Given the description of an element on the screen output the (x, y) to click on. 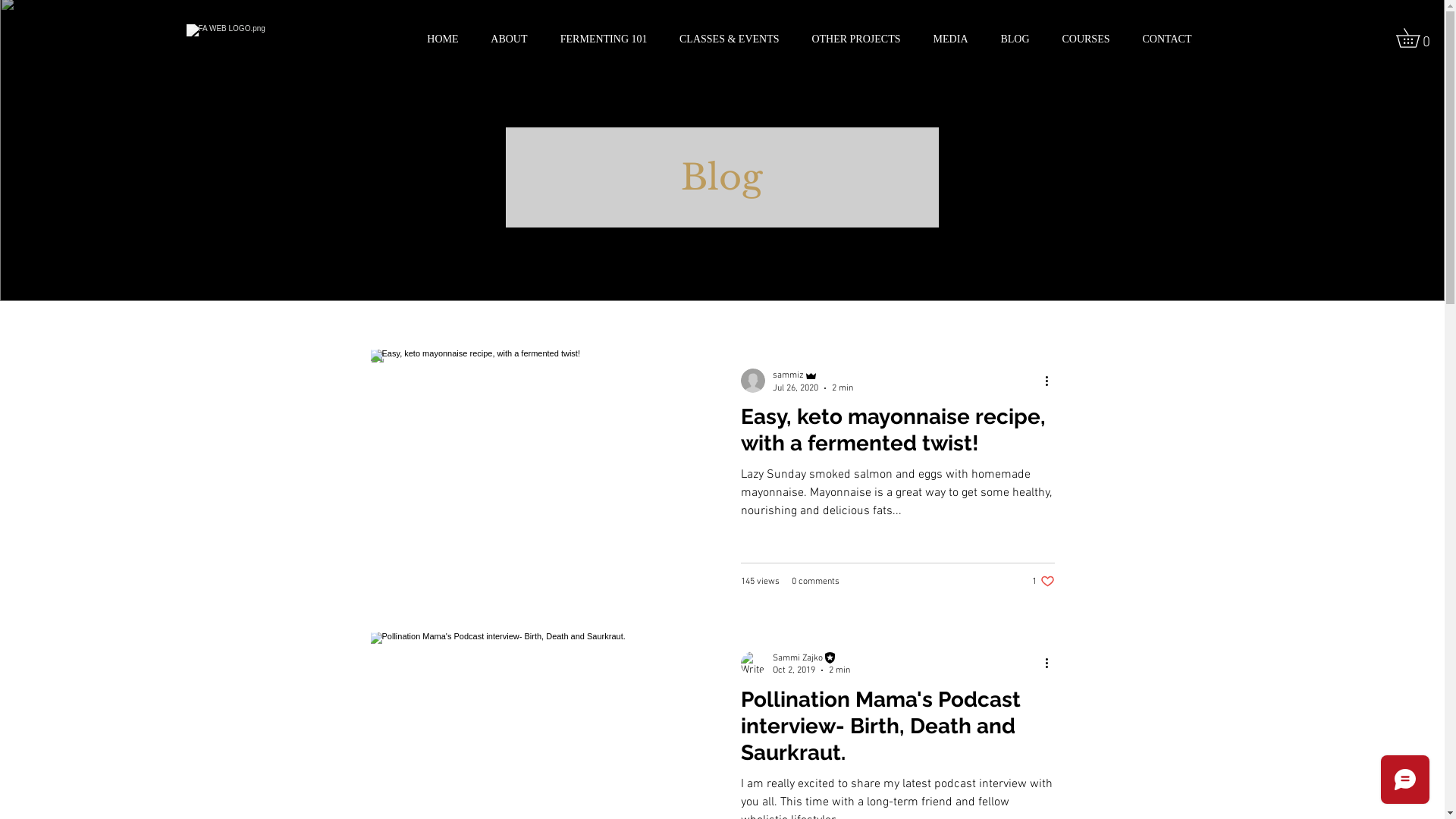
COURSES Element type: text (1080, 39)
MEDIA Element type: text (945, 39)
0 comments Element type: text (815, 581)
ABOUT Element type: text (504, 39)
FERMENTING 101 Element type: text (598, 39)
HOME Element type: text (436, 39)
CLASSES & EVENTS Element type: text (724, 39)
CONTACT Element type: text (1161, 39)
OTHER PROJECTS Element type: text (850, 39)
0 Element type: text (1417, 37)
BLOG Element type: text (1010, 39)
Easy, keto mayonnaise recipe, with a fermented twist! Element type: text (897, 433)
1 like. Post not marked as liked
1 Element type: text (1042, 581)
